Given the description of an element on the screen output the (x, y) to click on. 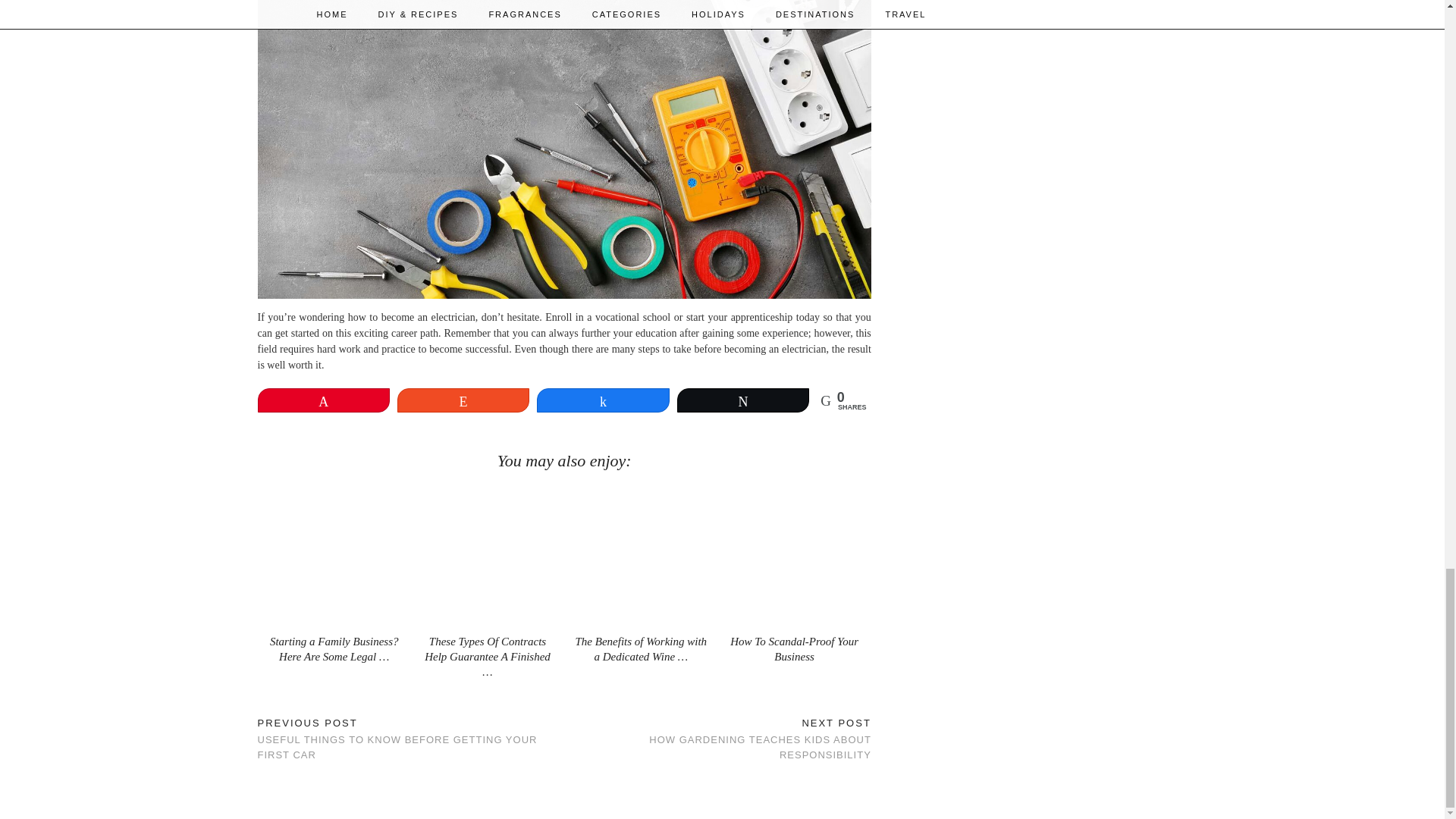
These Types Of Contracts Help Guarantee A Finished Job (487, 656)
The Benefits of Working with a Dedicated Wine Supplier (640, 554)
The Benefits of Working with a Dedicated Wine Supplier (640, 648)
These Types Of Contracts Help Guarantee A Finished Job (486, 554)
